Given the description of an element on the screen output the (x, y) to click on. 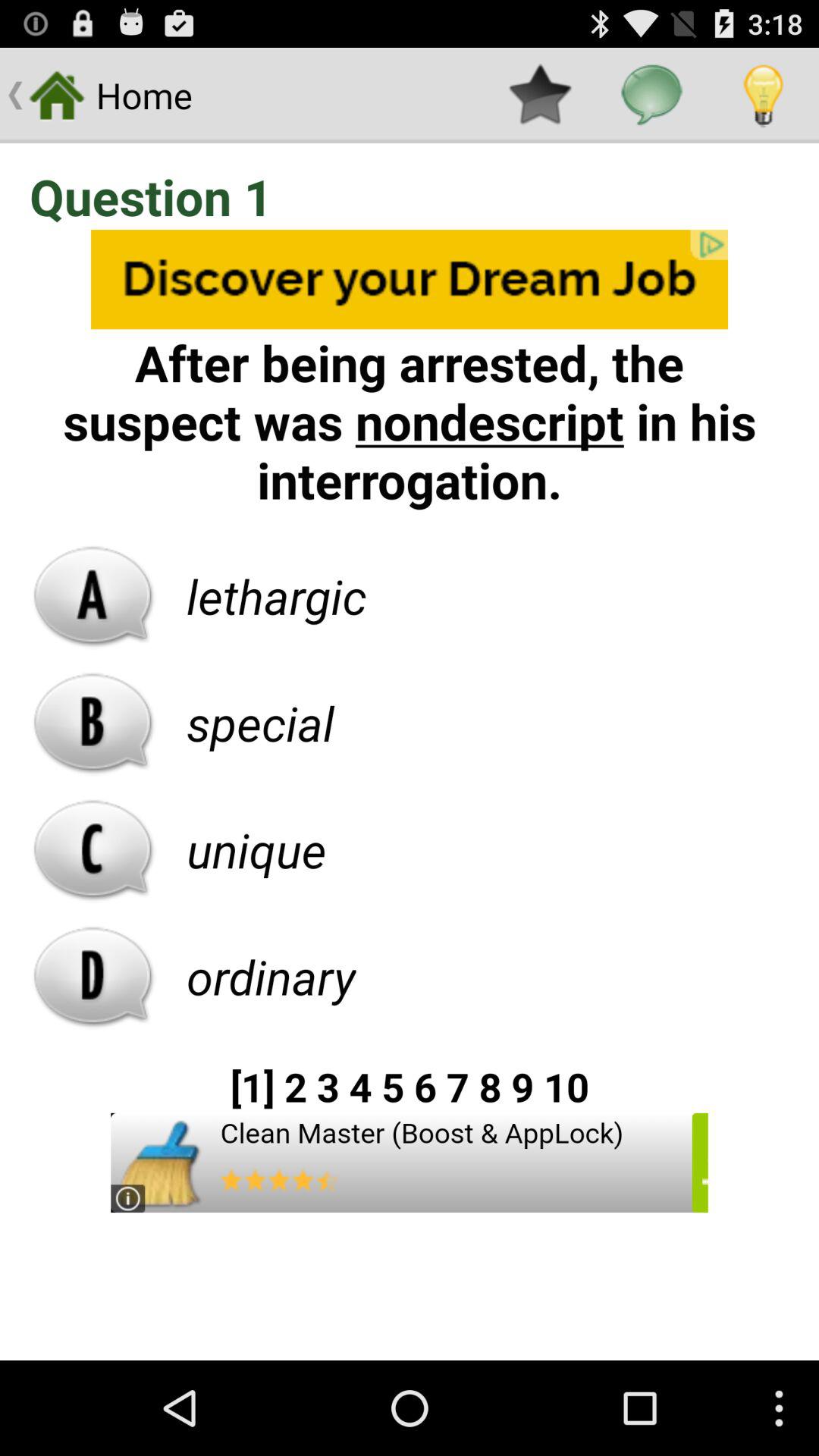
advertisement (409, 1162)
